Given the description of an element on the screen output the (x, y) to click on. 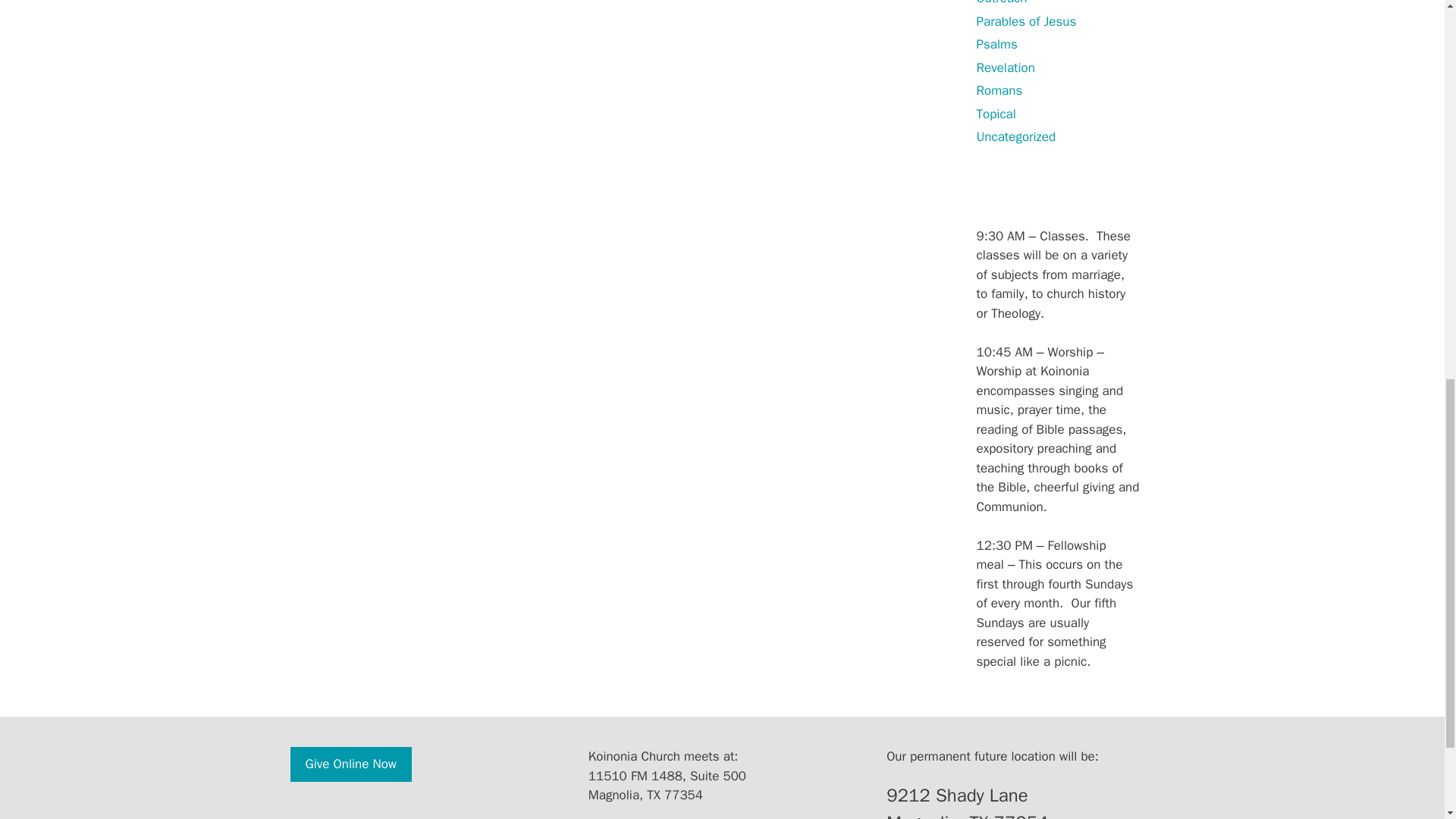
Uncategorized (1016, 136)
Revelation (1005, 66)
Outreach (1001, 2)
Psalms (996, 44)
Give Online Now (350, 764)
Topical (996, 114)
Romans (999, 90)
Parables of Jesus (1026, 21)
